Given the description of an element on the screen output the (x, y) to click on. 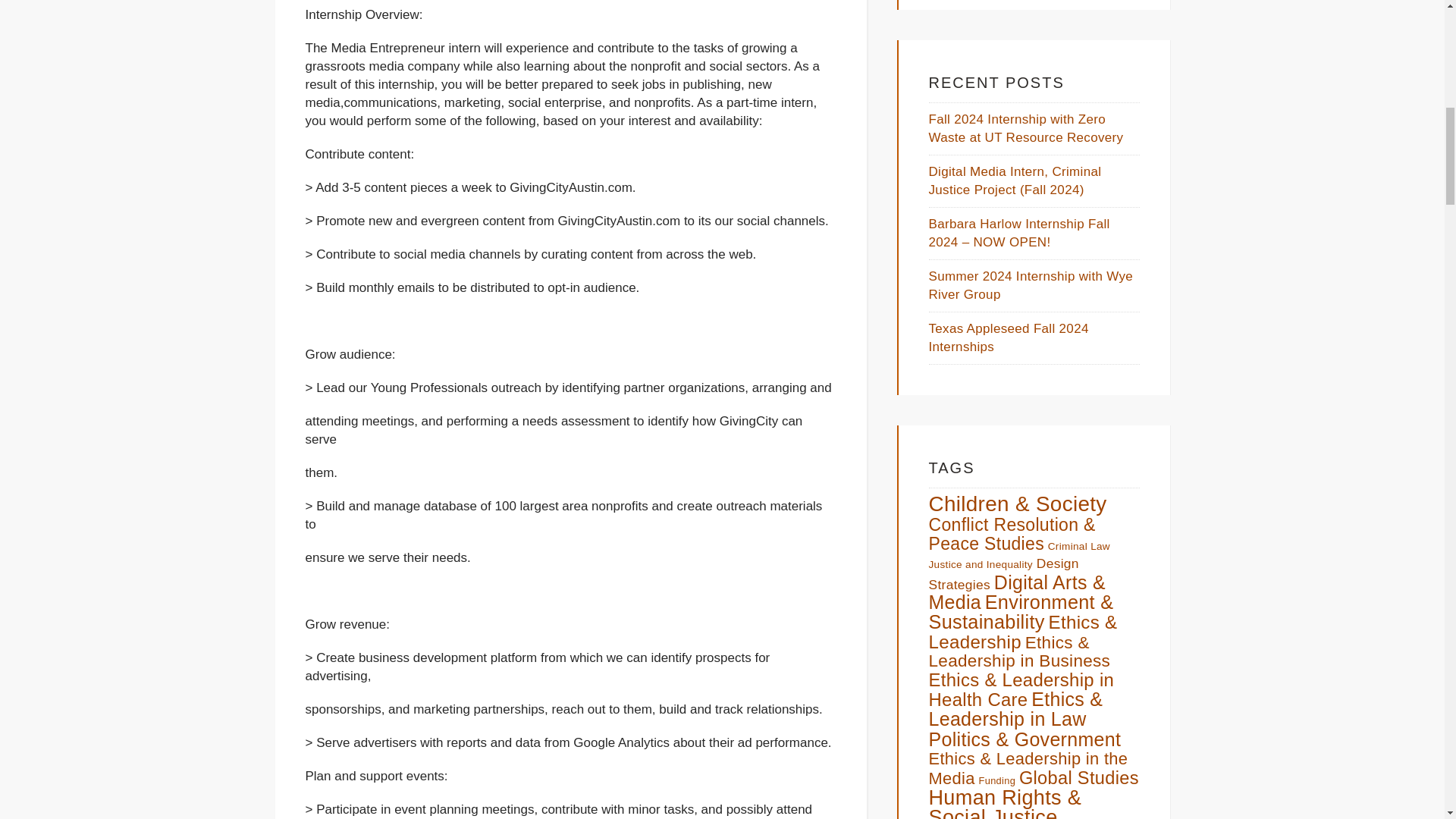
Design Strategies (1003, 573)
Funding (997, 780)
Texas Appleseed Fall 2024 Internships (1007, 337)
Criminal Law Justice and Inequality (1018, 555)
Fall 2024 Internship with Zero Waste at UT Resource Recovery (1025, 128)
Summer 2024 Internship with Wye River Group (1030, 285)
